Given the description of an element on the screen output the (x, y) to click on. 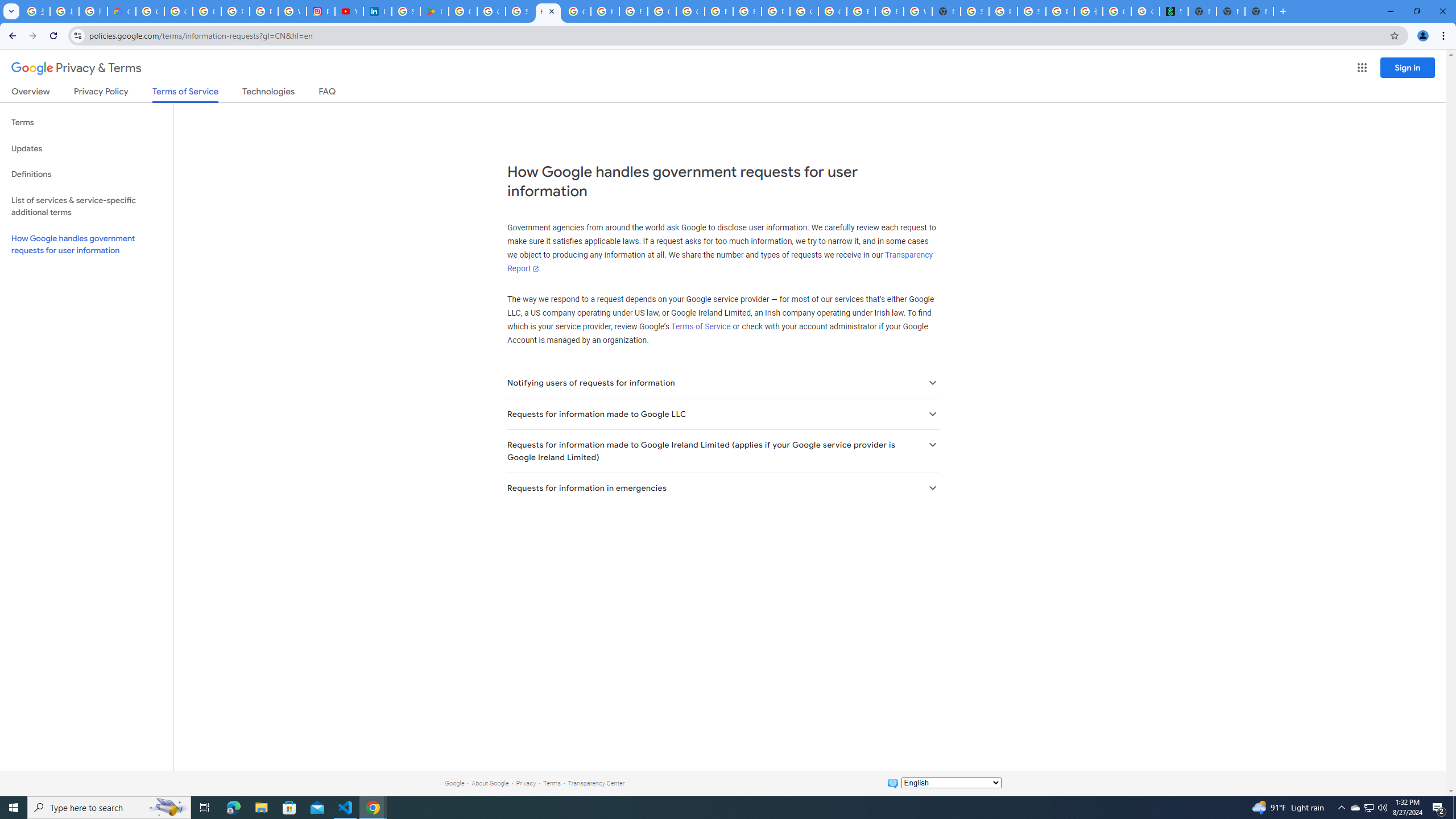
Notifying users of requests for information (722, 382)
Google Workspace - Specific Terms (491, 11)
